Given the description of an element on the screen output the (x, y) to click on. 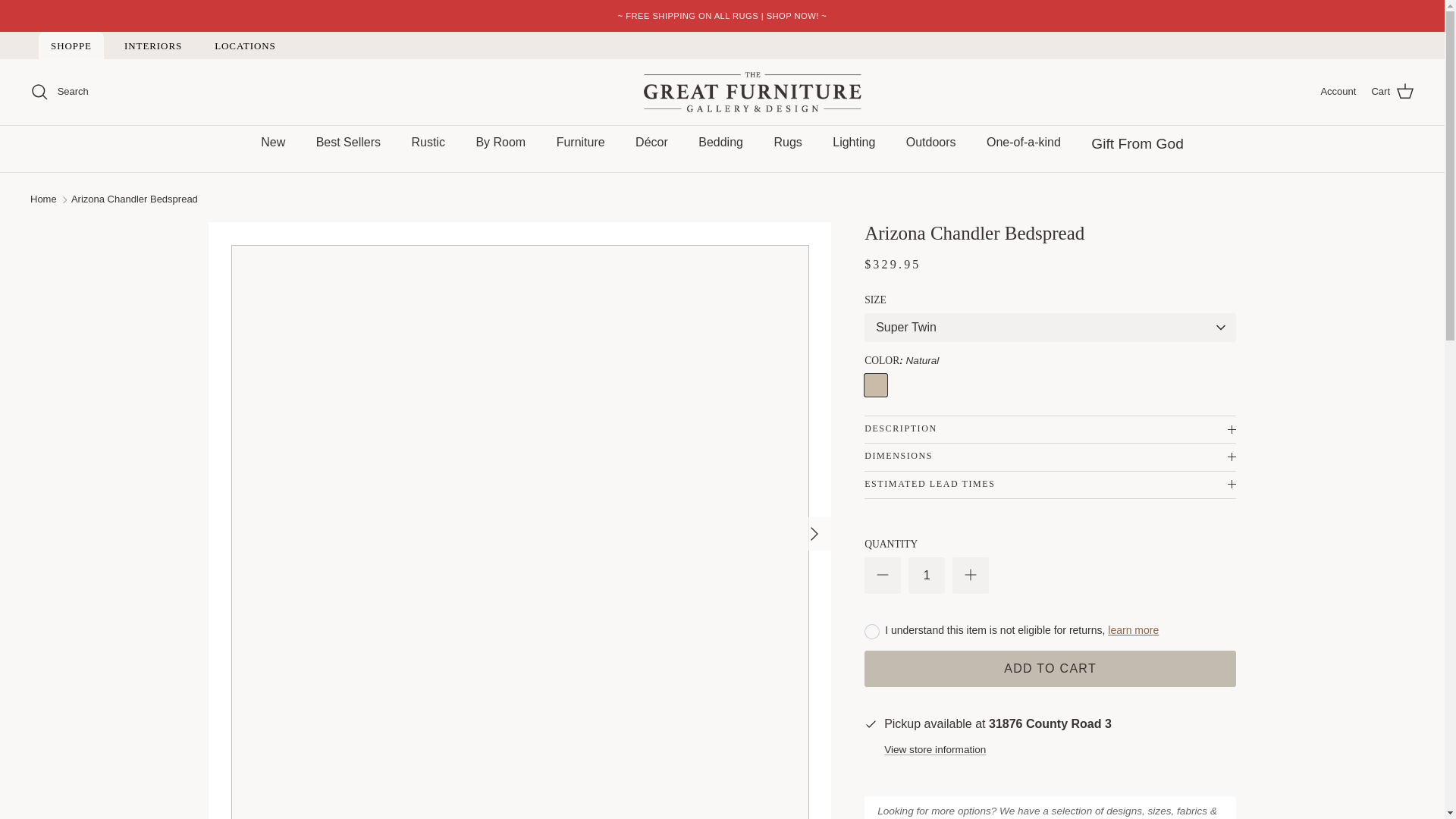
Cart (1392, 91)
By Room (499, 142)
Rustic (427, 142)
Plus (969, 574)
RIGHT (814, 533)
1 (926, 575)
SHOPPE (71, 45)
New (272, 142)
Minus (882, 574)
All Rugs (726, 15)
INTERIORS (152, 45)
Search (59, 91)
LOCATIONS (245, 45)
Best Sellers (348, 142)
Furniture (580, 142)
